Given the description of an element on the screen output the (x, y) to click on. 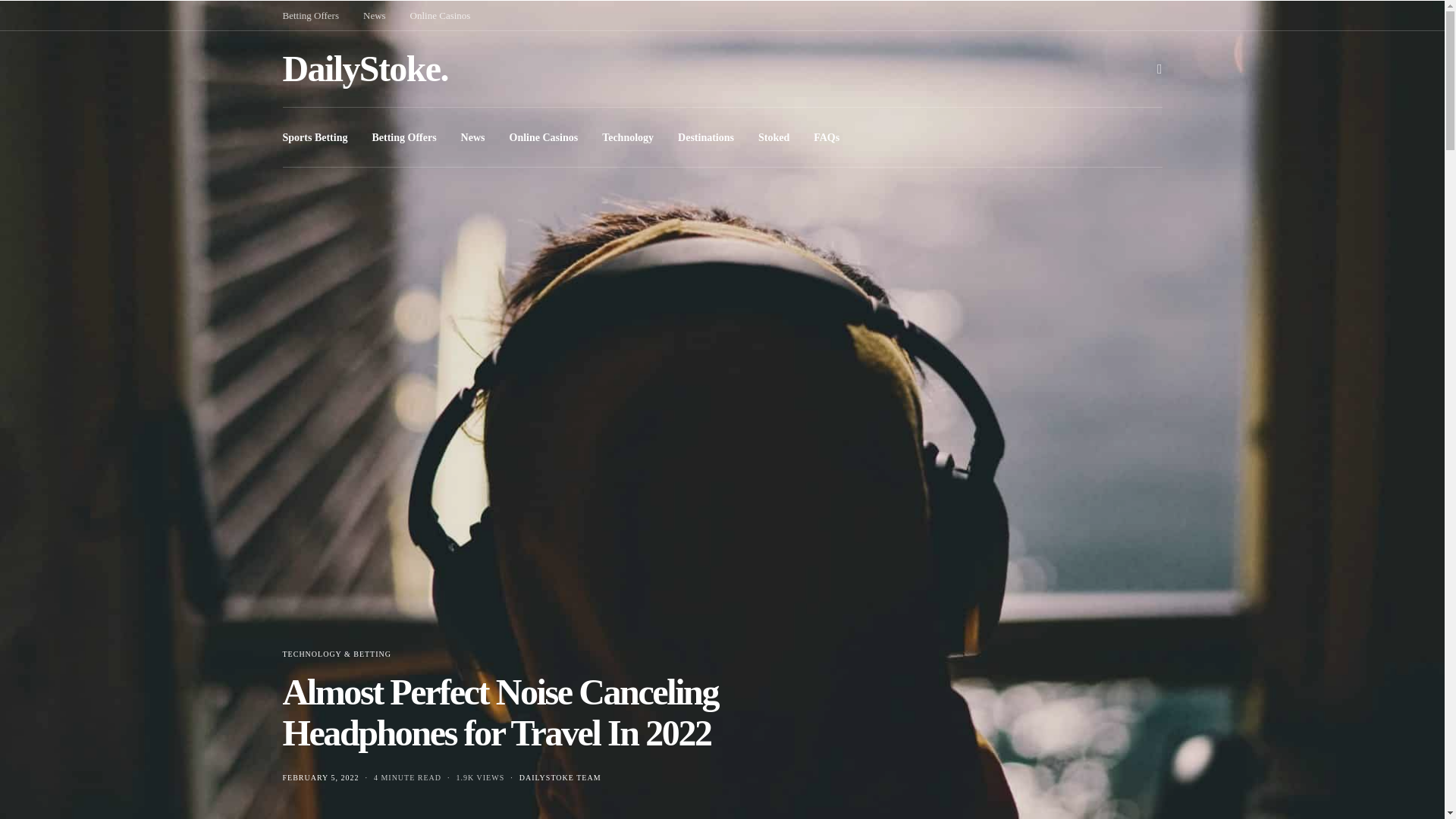
FEBRUARY 5, 2022 (320, 777)
DailyStoke. (364, 68)
View all posts by DailyStoke Team (560, 777)
News (472, 137)
Sports Betting (314, 137)
Online Casinos (543, 137)
Destinations (705, 137)
Betting Offers (310, 15)
DAILYSTOKE TEAM (560, 777)
FAQs (826, 137)
Technology (627, 137)
Betting Offers (403, 137)
Online Casinos (440, 15)
Stoked (773, 137)
News (373, 15)
